Given the description of an element on the screen output the (x, y) to click on. 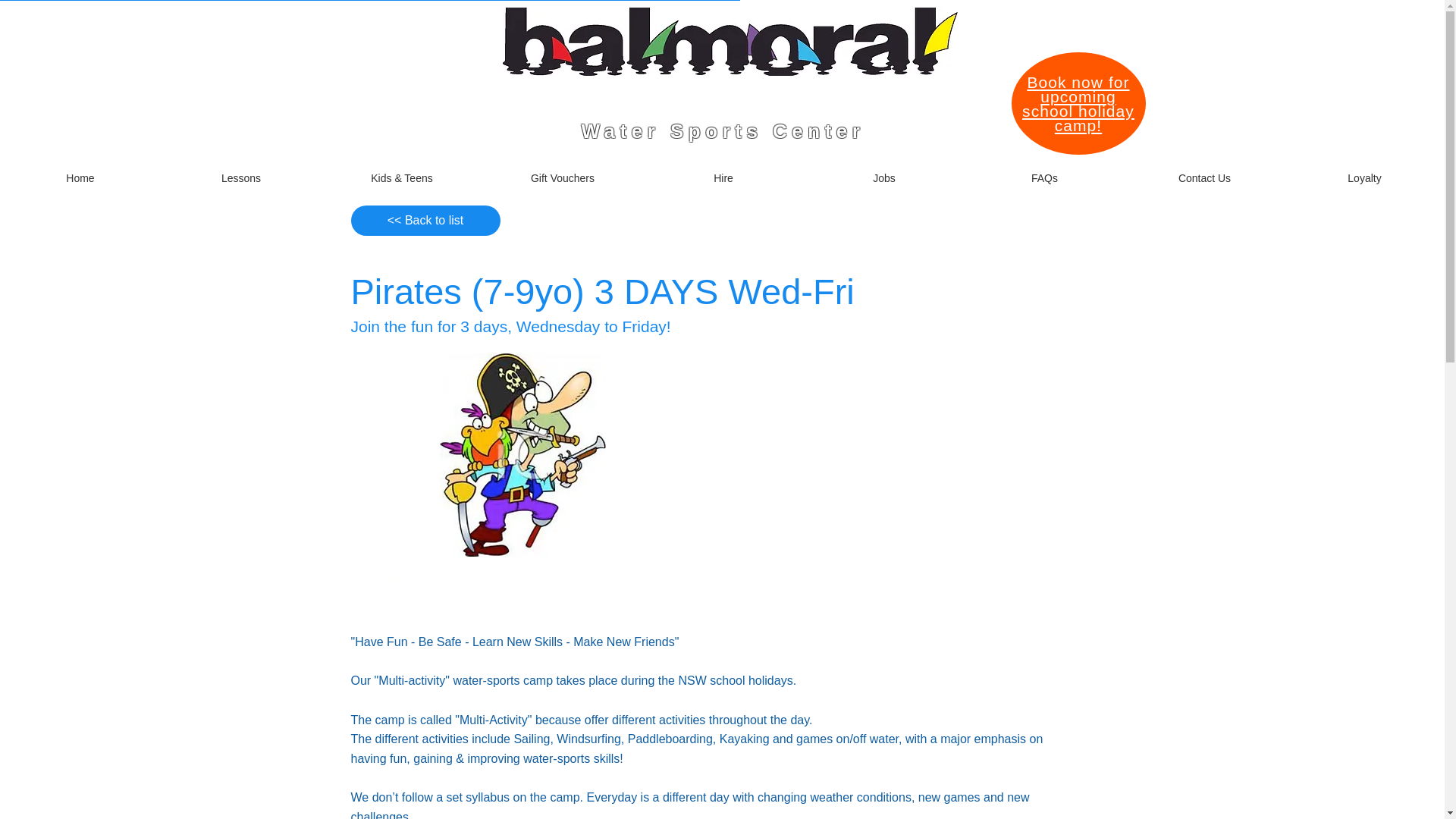
Book now for upcoming school holiday camp! (1078, 103)
Lessons (240, 178)
FAQs (1043, 178)
Hire (723, 178)
Jobs (883, 178)
Home (80, 178)
Gift Vouchers (562, 178)
Contact Us (1204, 178)
